Given the description of an element on the screen output the (x, y) to click on. 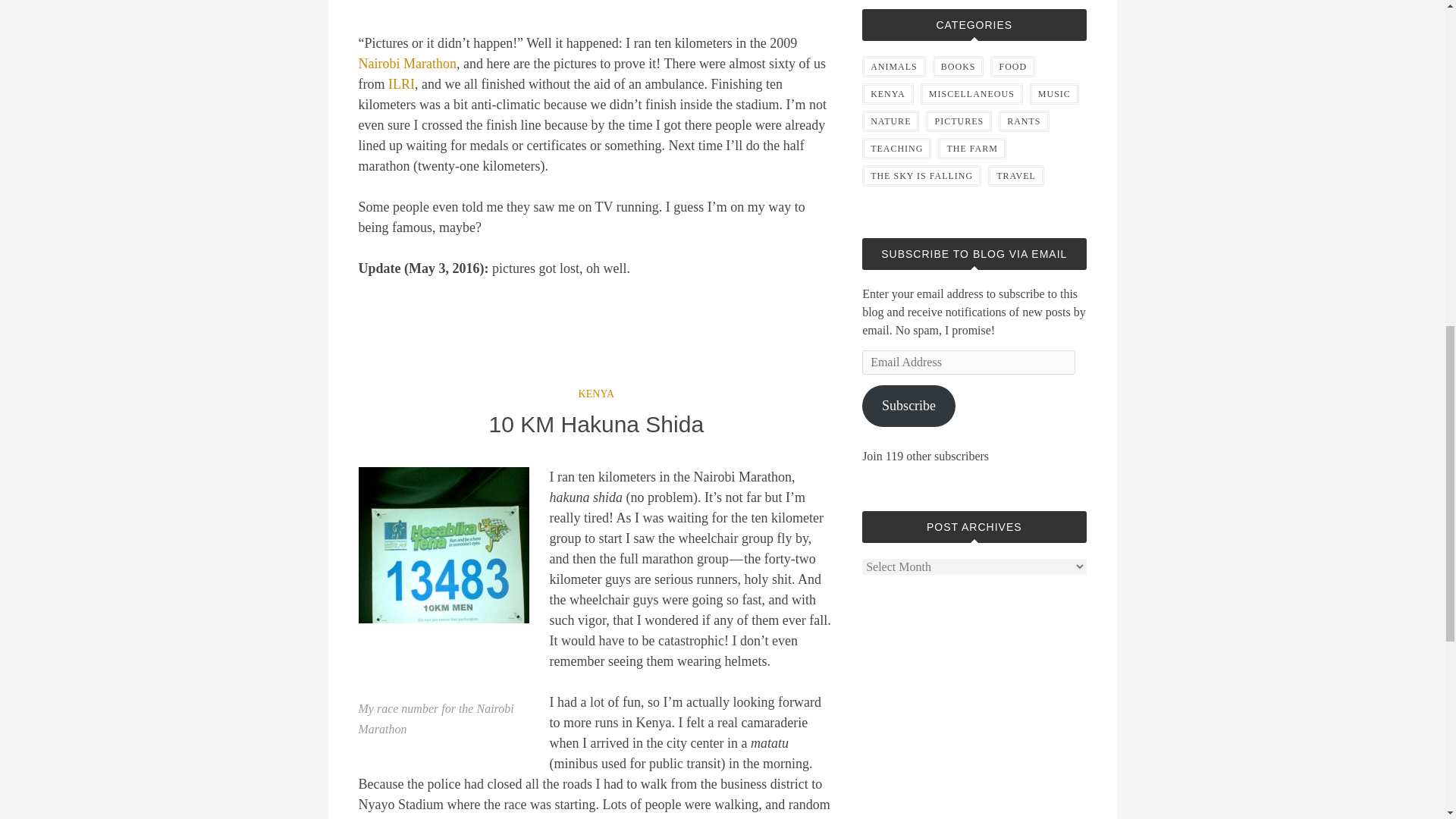
MISCELLANEOUS (971, 93)
BOOKS (958, 66)
NATURE (889, 120)
TEACHING (896, 148)
PICTURES (958, 120)
ANIMALS (893, 66)
RANTS (1023, 120)
ILRI (401, 83)
THE FARM (971, 148)
MUSIC (1053, 93)
